Given the description of an element on the screen output the (x, y) to click on. 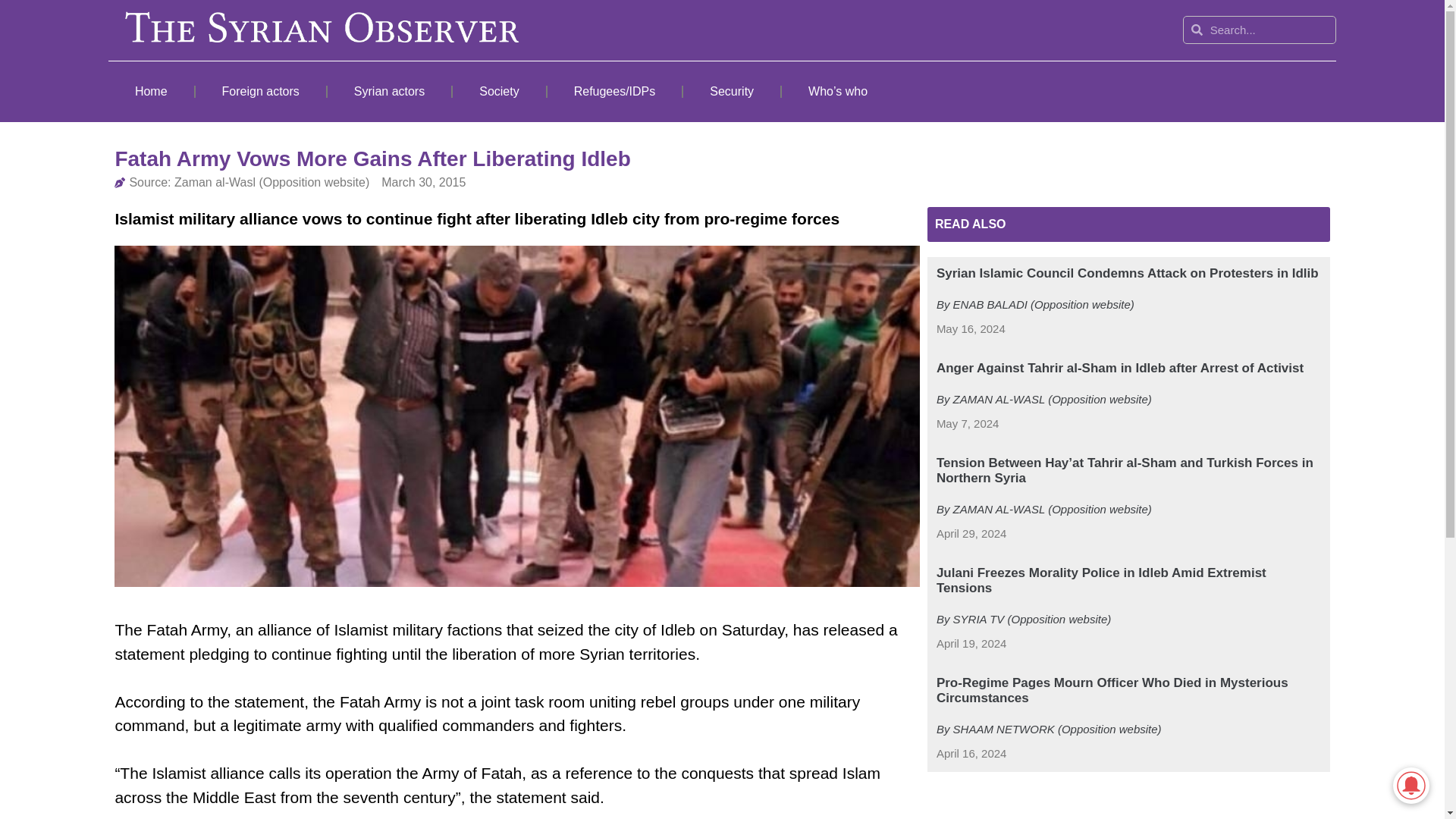
April 19, 2024 (971, 643)
April 29, 2024 (971, 533)
May 7, 2024 (967, 424)
April 16, 2024 (971, 753)
Security (731, 91)
Society (498, 91)
Foreign actors (260, 91)
May 16, 2024 (971, 329)
